Given the description of an element on the screen output the (x, y) to click on. 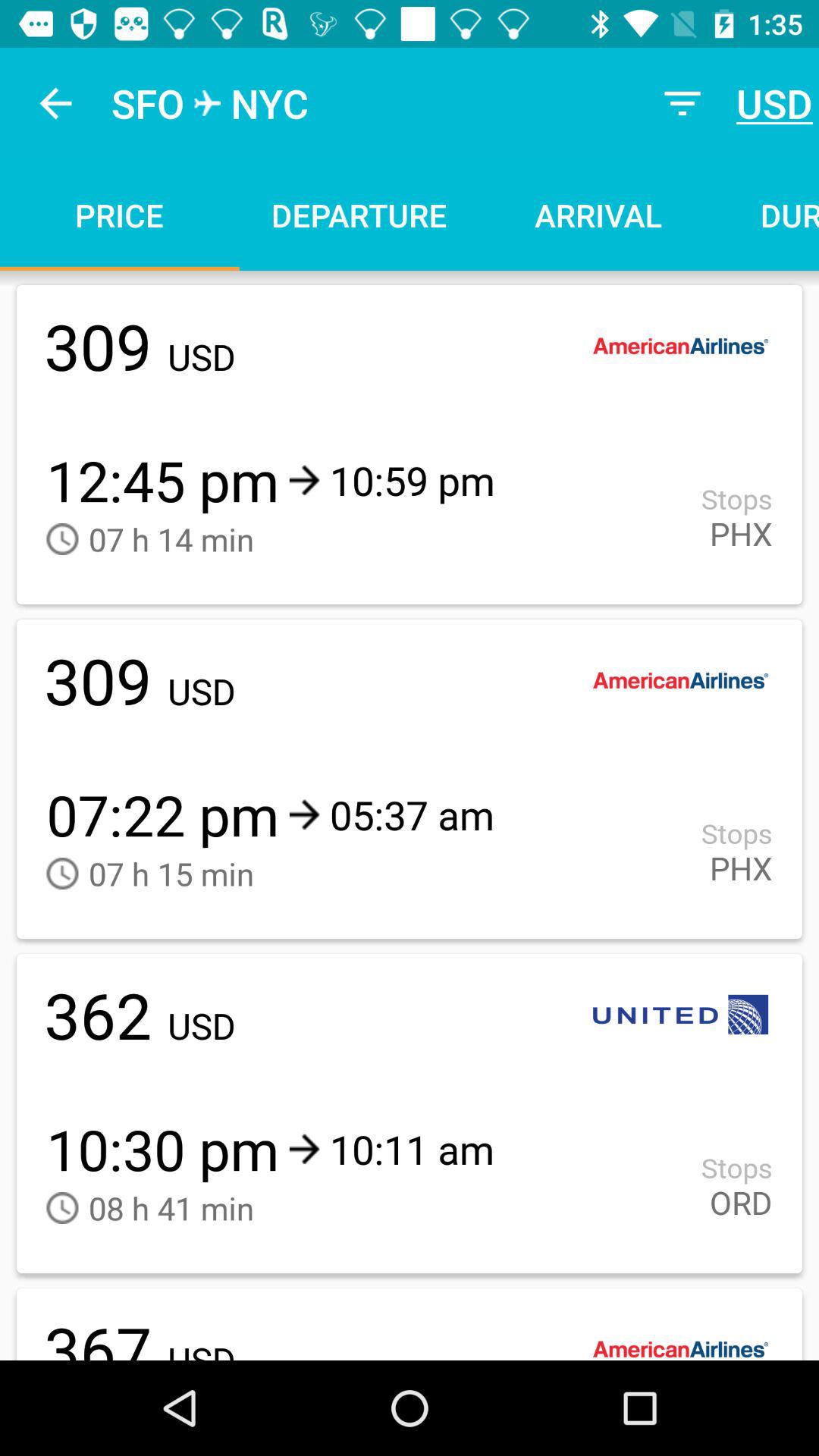
press icon next to the sfo item (55, 103)
